Given the description of an element on the screen output the (x, y) to click on. 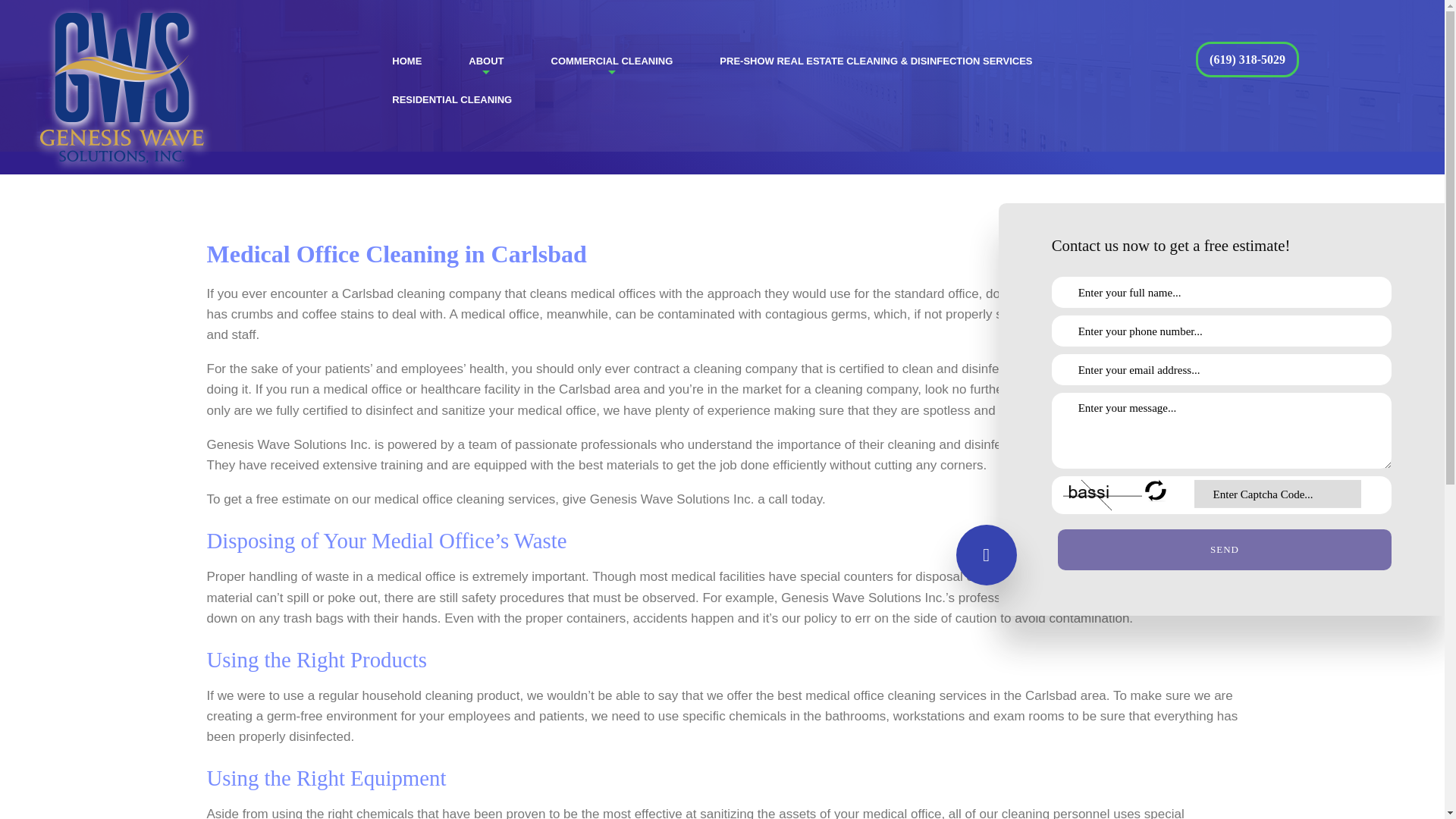
HOME (406, 60)
Full Name (1221, 291)
ABOUT (485, 60)
Enter your message (1221, 430)
Email Address (1221, 368)
Enter Captcha (1277, 493)
Phone Number (1221, 330)
